Given the description of an element on the screen output the (x, y) to click on. 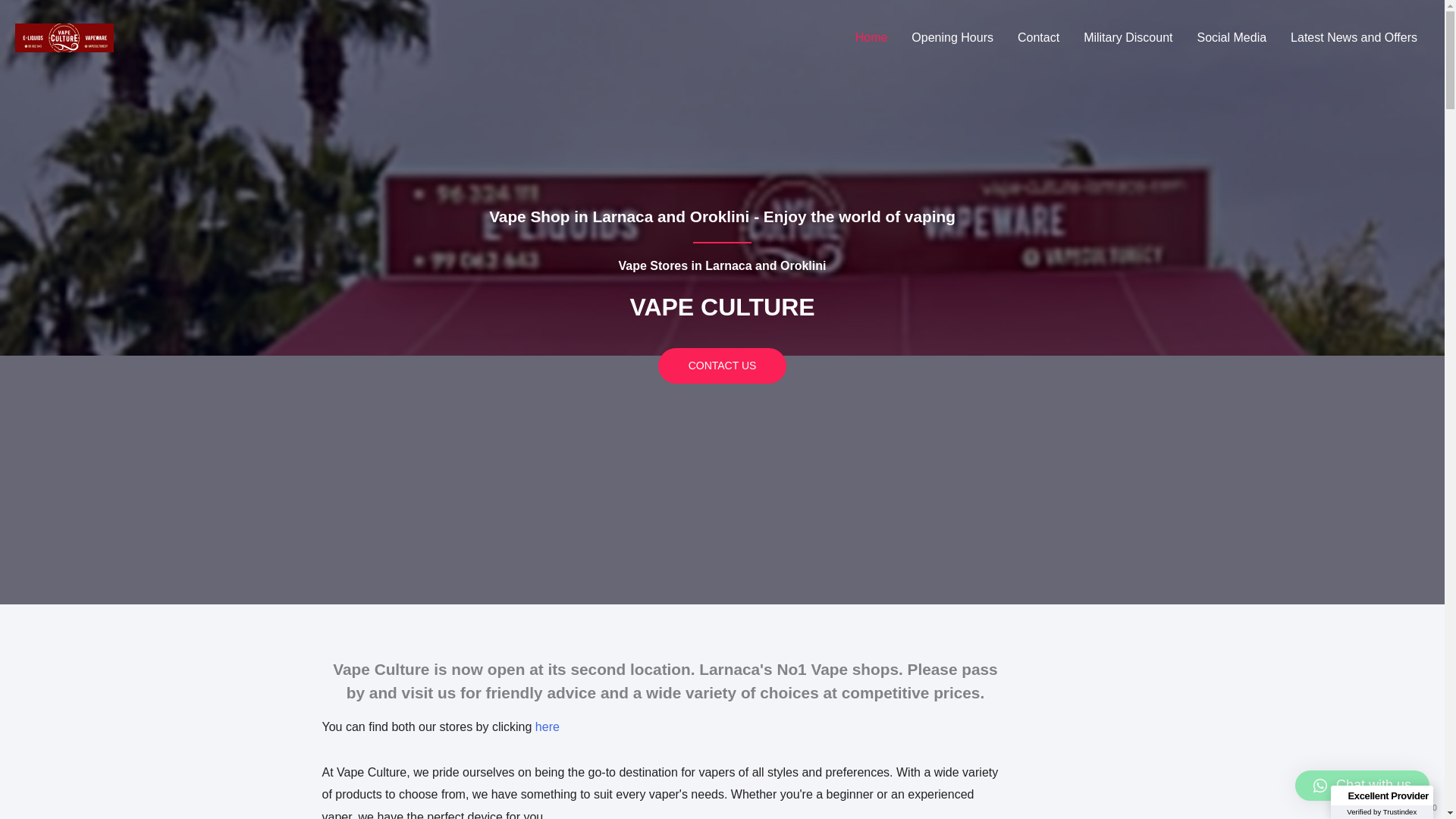
CONTACT US (722, 366)
Military Discount (1128, 38)
Social Media (1231, 38)
Opening Hours (952, 38)
here  (548, 726)
Latest News and Offers (1353, 38)
